Given the description of an element on the screen output the (x, y) to click on. 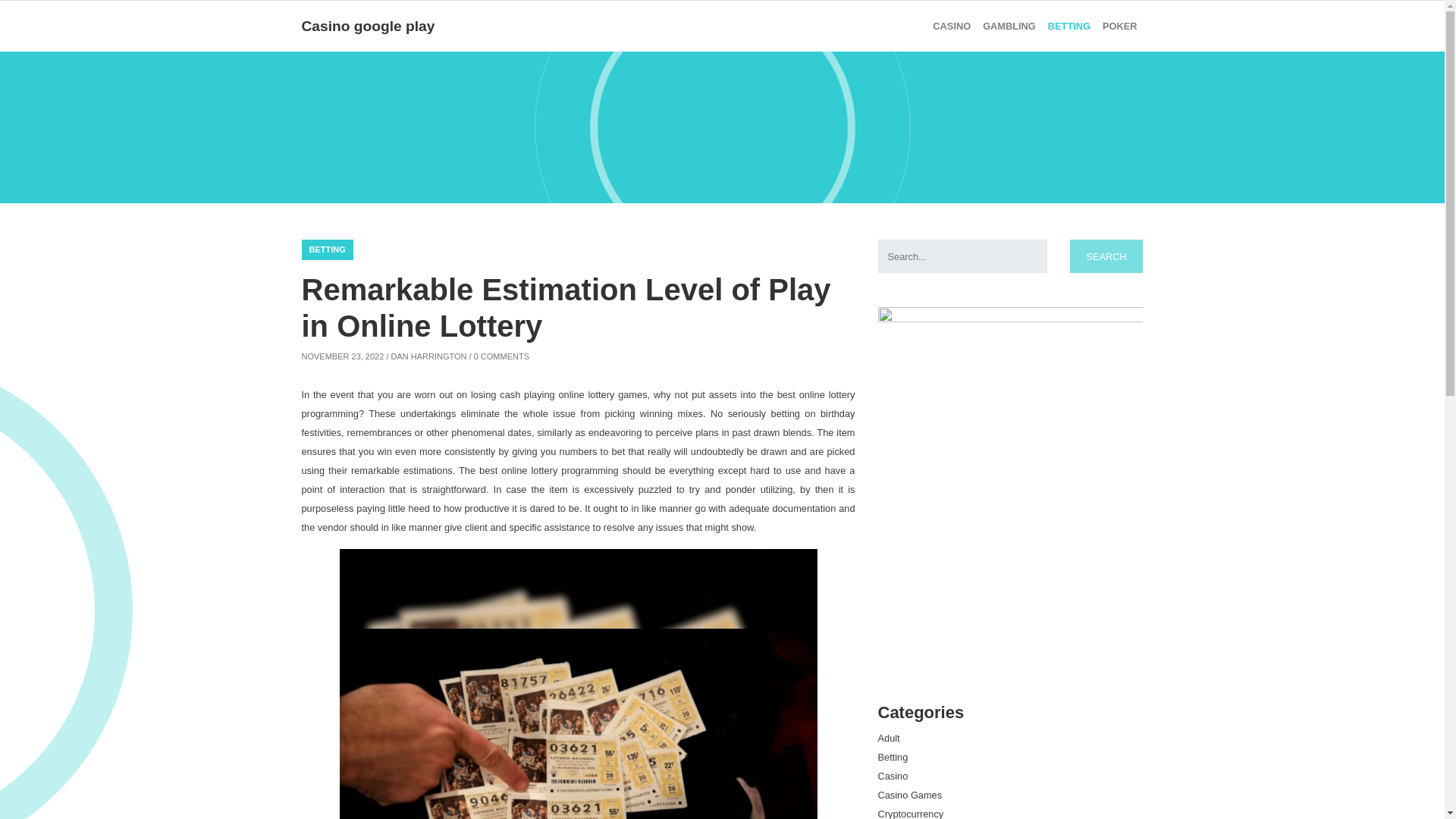
View all posts by Dan Harrington (429, 356)
Casino Games (909, 794)
Casino (951, 26)
Search (1106, 255)
BETTING (327, 249)
Search (1106, 255)
Casino (892, 776)
Gambling (1009, 26)
Betting (892, 756)
Cryptocurrency (910, 813)
